Given the description of an element on the screen output the (x, y) to click on. 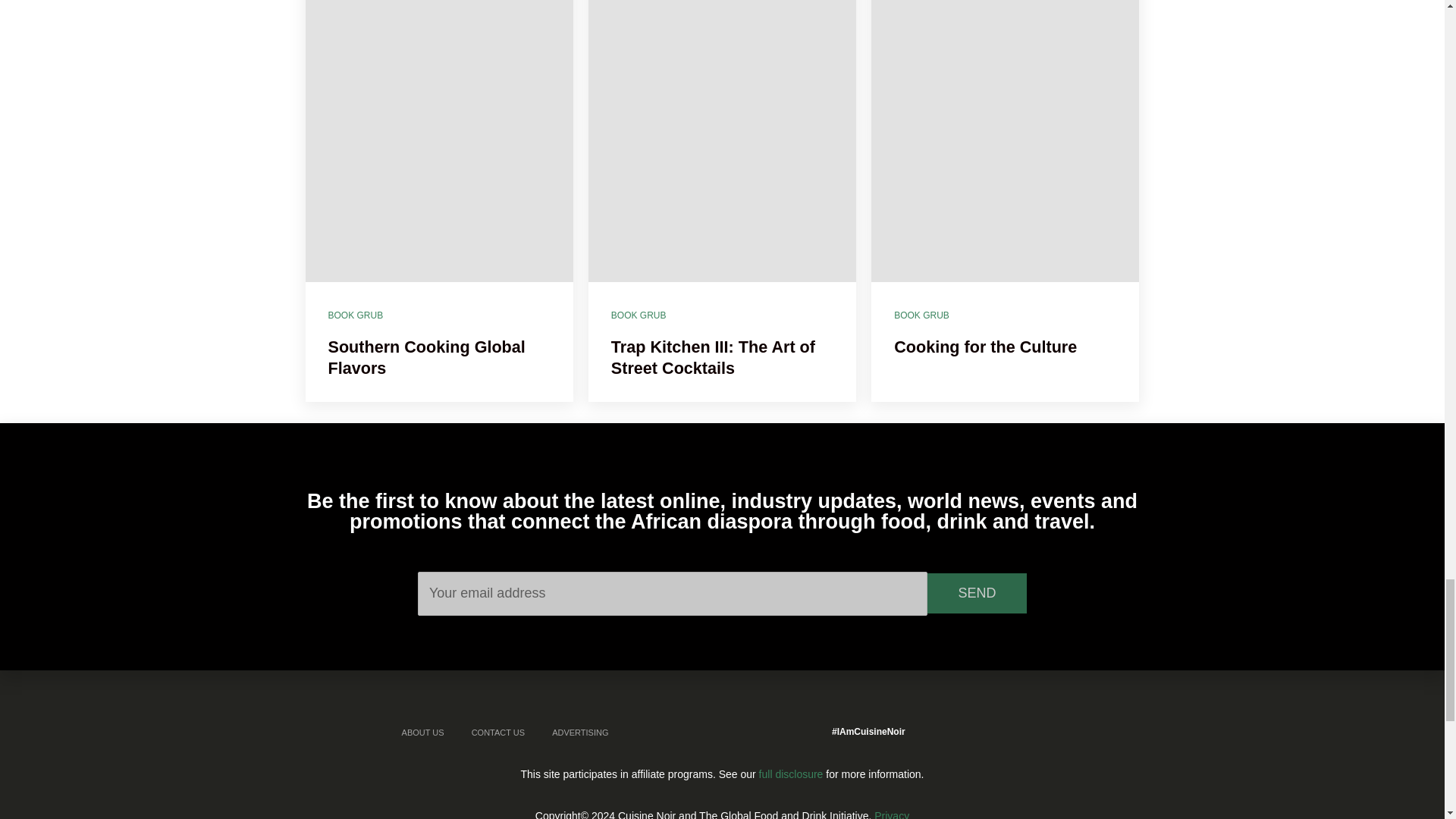
V. Sheree Williams (633, 280)
Cooking for the Culture (1004, 140)
Trap Kitchen III: The Art of Street Cocktails (722, 140)
Send (976, 593)
Southern Cooking Global Flavors (438, 140)
V. Sheree Williams (349, 280)
